Given the description of an element on the screen output the (x, y) to click on. 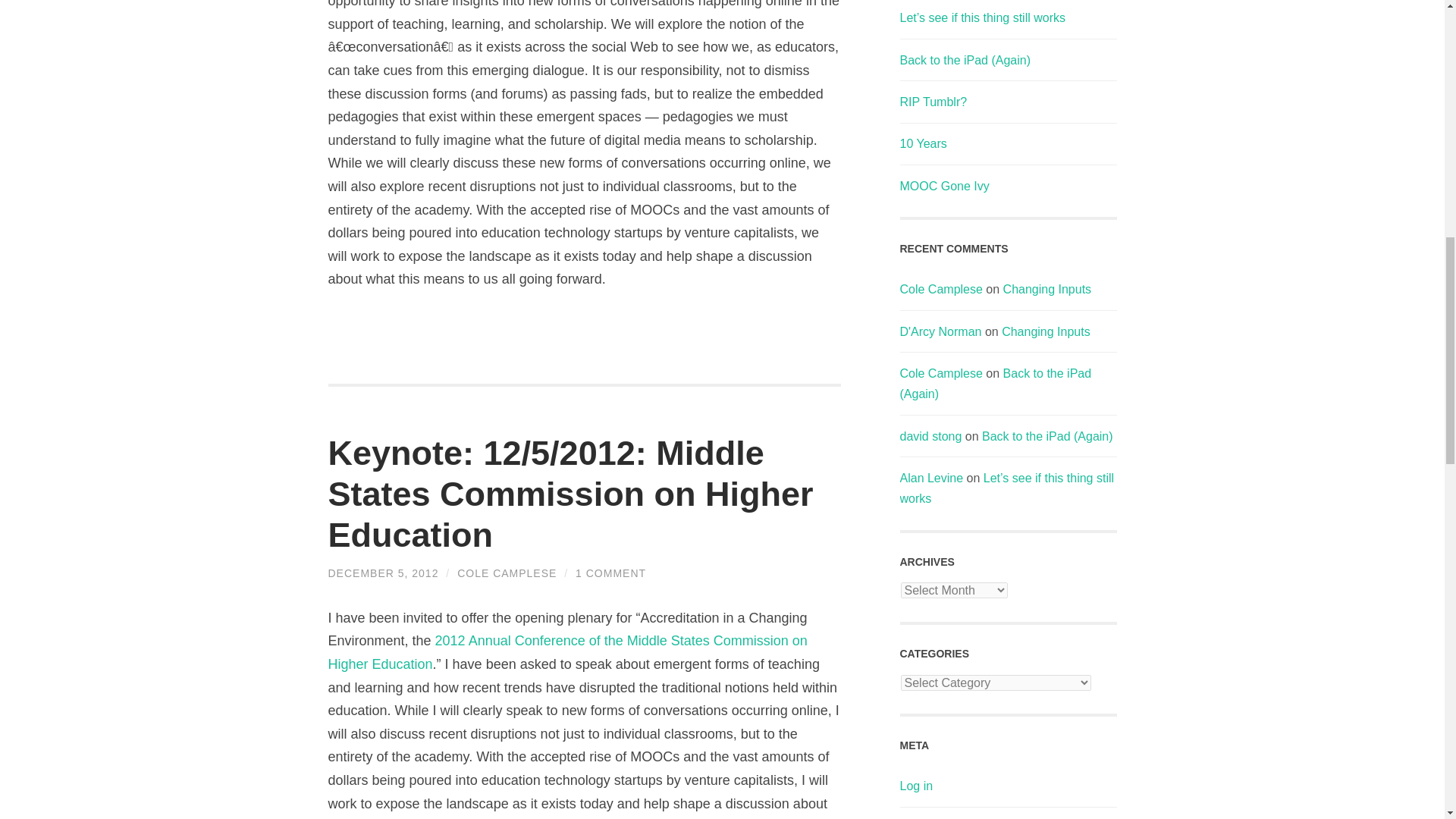
COLE CAMPLESE (506, 573)
DECEMBER 5, 2012 (382, 573)
RIP Tumblr? (932, 101)
D'Arcy Norman (940, 331)
1 COMMENT (610, 573)
Cole Camplese (940, 288)
Changing Inputs (1047, 288)
10 Years (922, 143)
Changing Inputs (1045, 331)
MOOC Gone Ivy (943, 185)
